Given the description of an element on the screen output the (x, y) to click on. 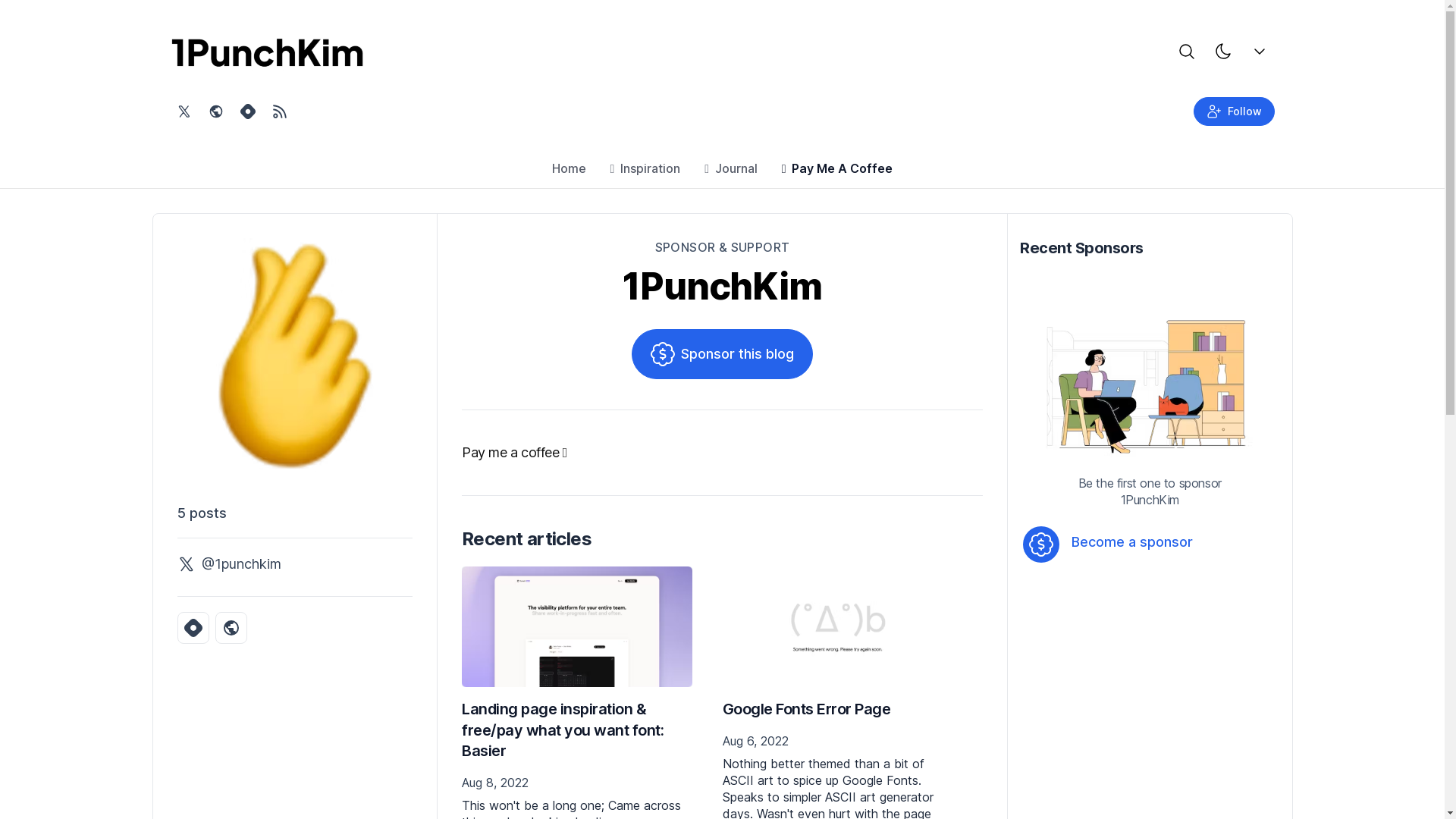
@1punchkim Element type: text (229, 563)
Sponsor this blog Element type: text (721, 354)
Google Fonts Error Page Element type: text (805, 708)
Aug 6, 2022 Element type: text (836, 740)
Home Element type: text (568, 172)
Become a sponsor Element type: text (1175, 542)
Aug 8, 2022 Element type: text (576, 782)
Follow Element type: text (1233, 111)
